Given the description of an element on the screen output the (x, y) to click on. 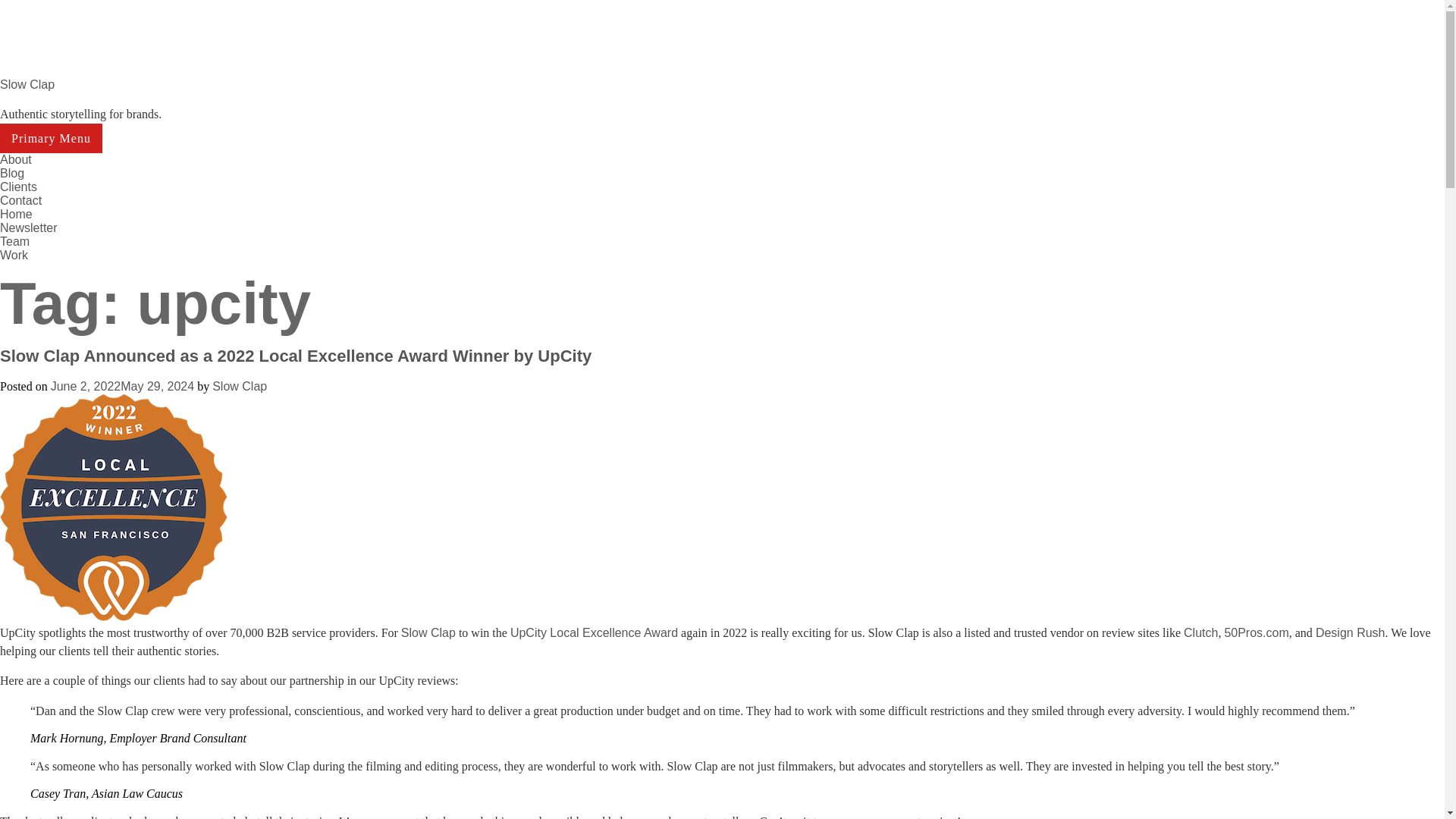
Primary Menu (50, 138)
Newsletter (29, 227)
Work (13, 254)
Design Rush (1351, 632)
50Pros.com (1256, 632)
Clients (18, 186)
Contact (21, 200)
Slow Clap (428, 632)
Team (14, 241)
